Given the description of an element on the screen output the (x, y) to click on. 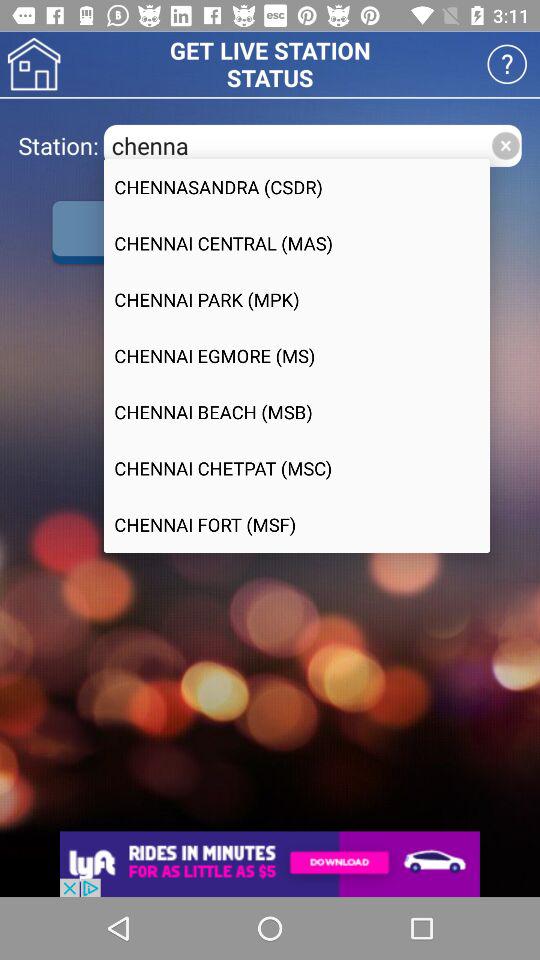
access advertising (270, 864)
